Given the description of an element on the screen output the (x, y) to click on. 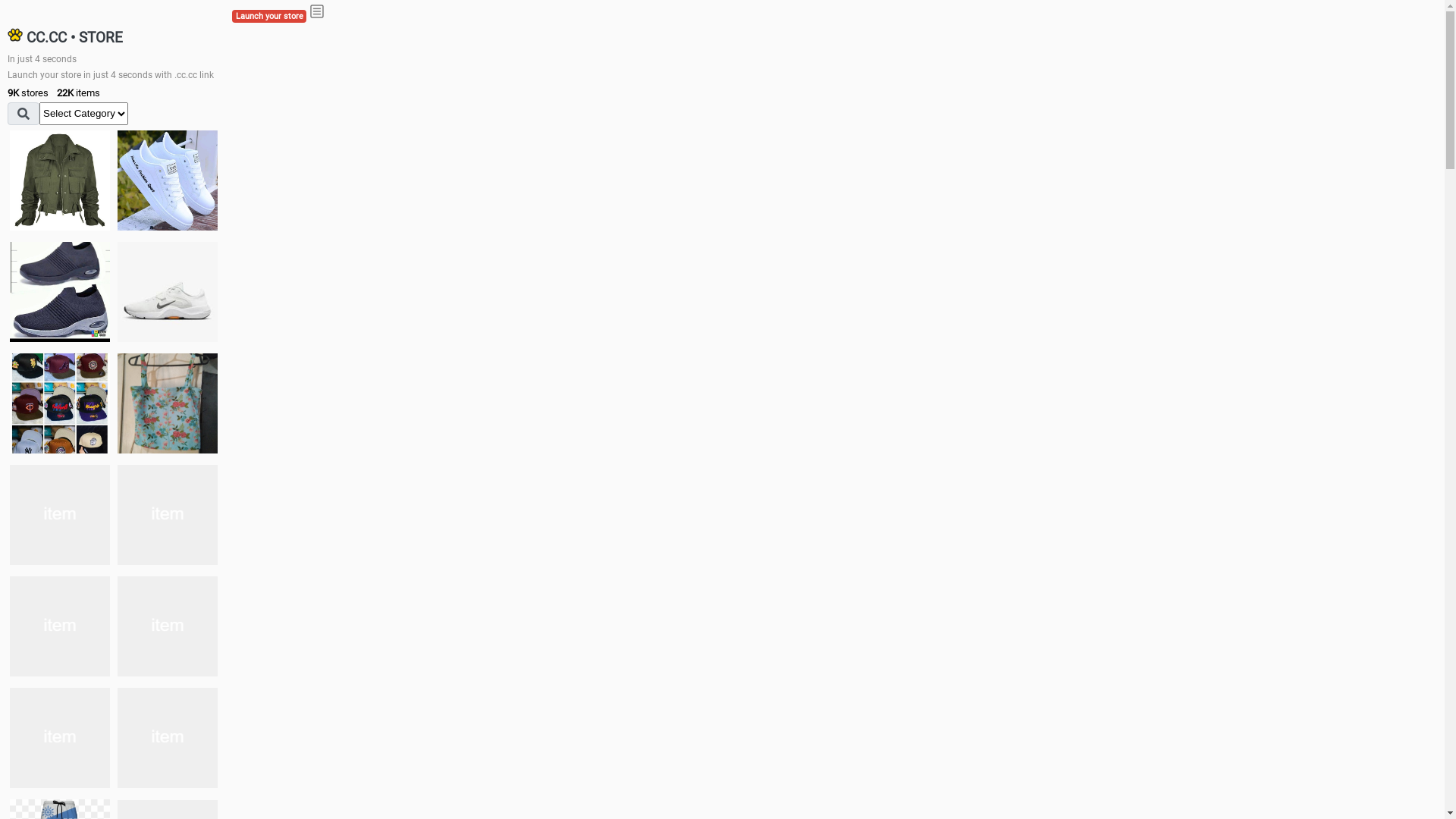
white shoes Element type: hover (167, 180)
Short pant Element type: hover (167, 737)
Zapatillas pumas Element type: hover (167, 626)
Launch your store Element type: text (269, 15)
Things we need Element type: hover (59, 403)
Ukay cloth Element type: hover (167, 403)
Shoes for boys Element type: hover (167, 291)
shoes for boys Element type: hover (59, 291)
Zapatillas Element type: hover (59, 737)
Dress/square nect top Element type: hover (59, 514)
Shoes Element type: hover (167, 514)
jacket Element type: hover (59, 180)
